Given the description of an element on the screen output the (x, y) to click on. 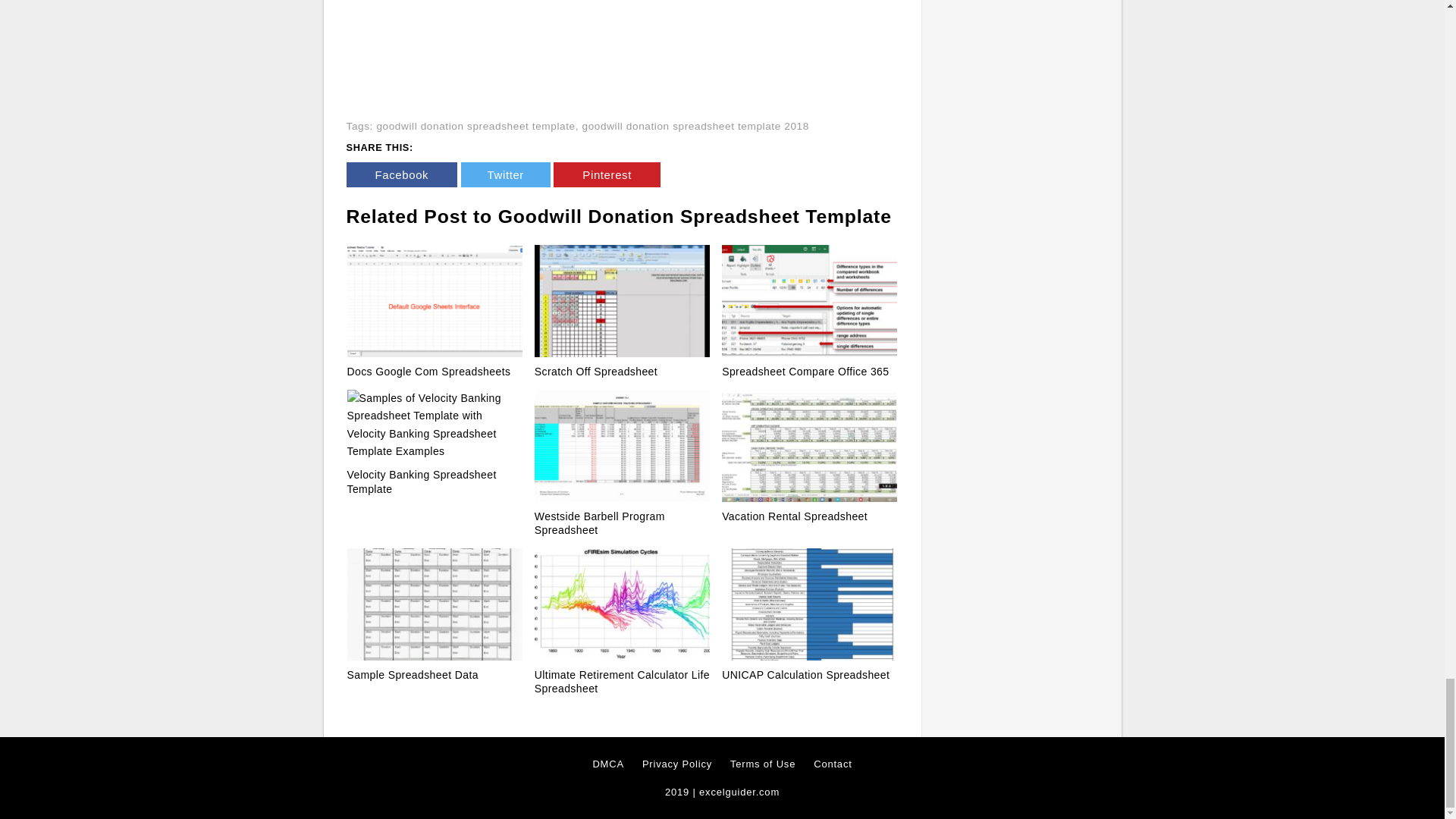
goodwill donation spreadsheet template (475, 125)
goodwill donation spreadsheet template 2018 (695, 125)
Facebook (401, 174)
